Given the description of an element on the screen output the (x, y) to click on. 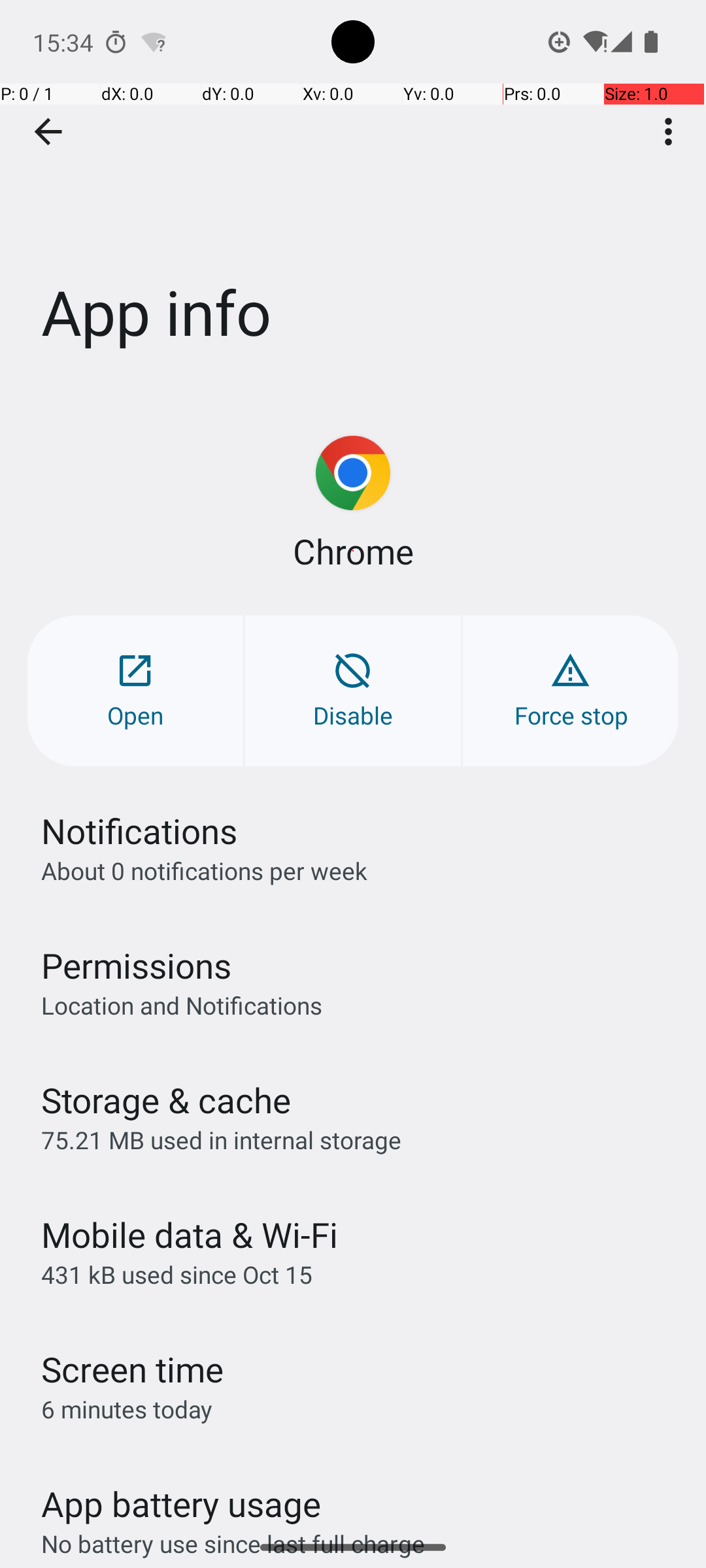
Location and Notifications Element type: android.widget.TextView (181, 1004)
75.21 MB used in internal storage Element type: android.widget.TextView (221, 1139)
431 kB used since Oct 15 Element type: android.widget.TextView (176, 1273)
6 minutes today Element type: android.widget.TextView (127, 1408)
